Given the description of an element on the screen output the (x, y) to click on. 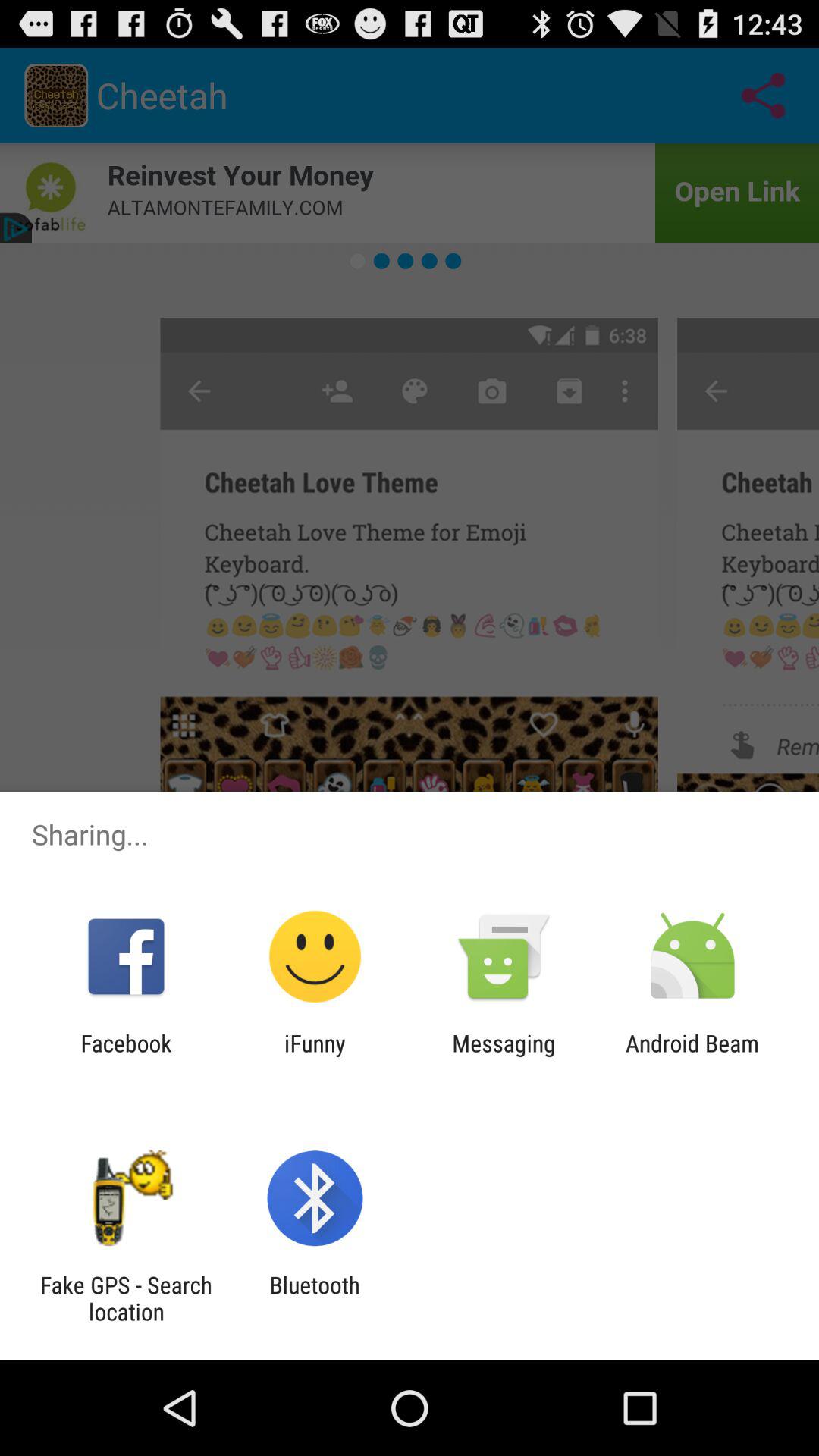
tap icon next to ifunny item (125, 1056)
